Given the description of an element on the screen output the (x, y) to click on. 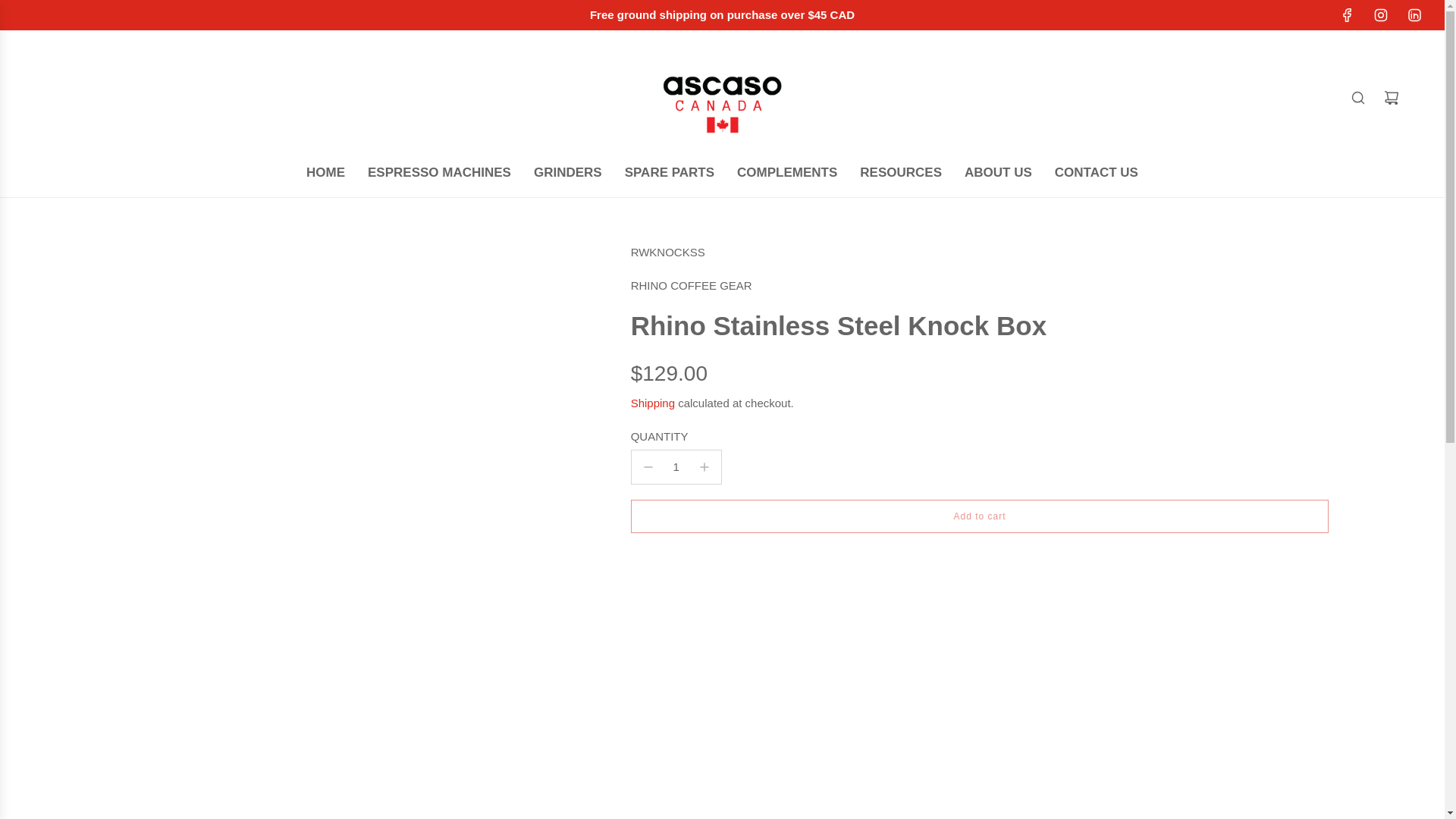
Rhino Coffee Gear (691, 285)
